Given the description of an element on the screen output the (x, y) to click on. 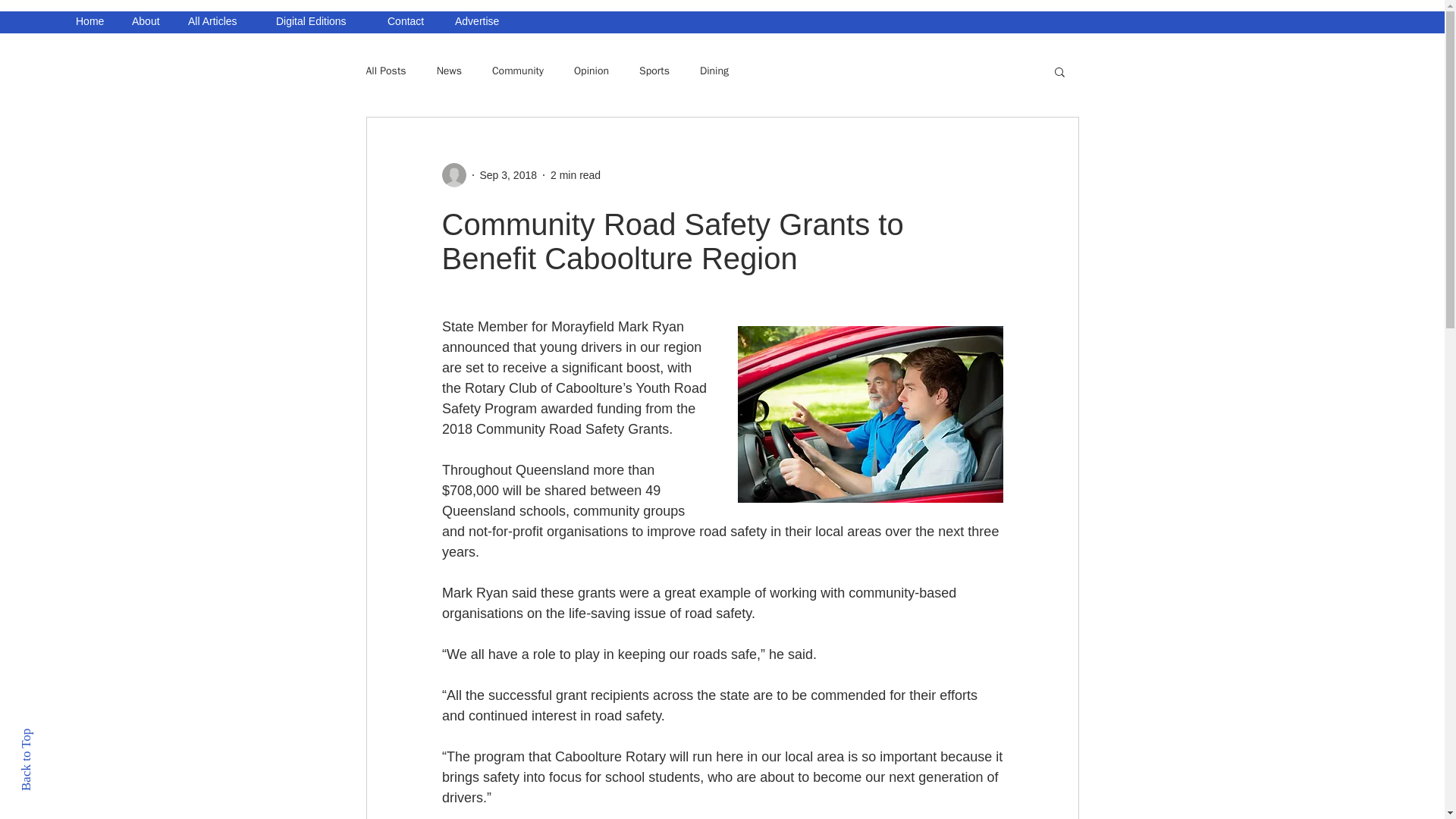
Home (92, 21)
Dining (714, 70)
About (148, 21)
Contact (409, 21)
Advertise (482, 21)
Digital Editions (319, 21)
Sep 3, 2018 (508, 174)
All Posts (385, 70)
2 min read (574, 174)
Sports (654, 70)
Opinion (590, 70)
Community (517, 70)
Back to Top (49, 735)
News (448, 70)
All Articles (220, 21)
